Given the description of an element on the screen output the (x, y) to click on. 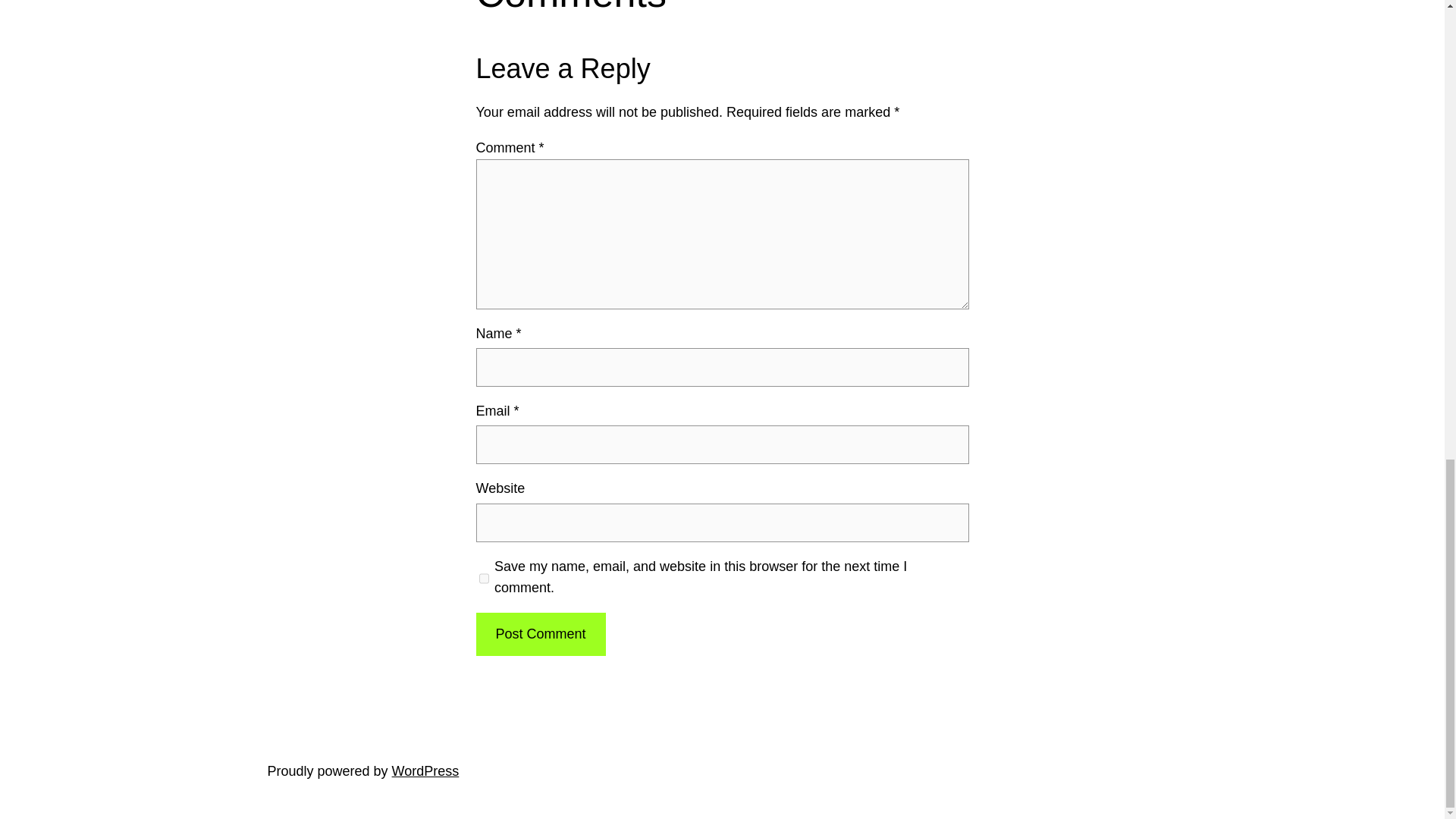
Post Comment (540, 634)
Post Comment (540, 634)
WordPress (425, 770)
